Given the description of an element on the screen output the (x, y) to click on. 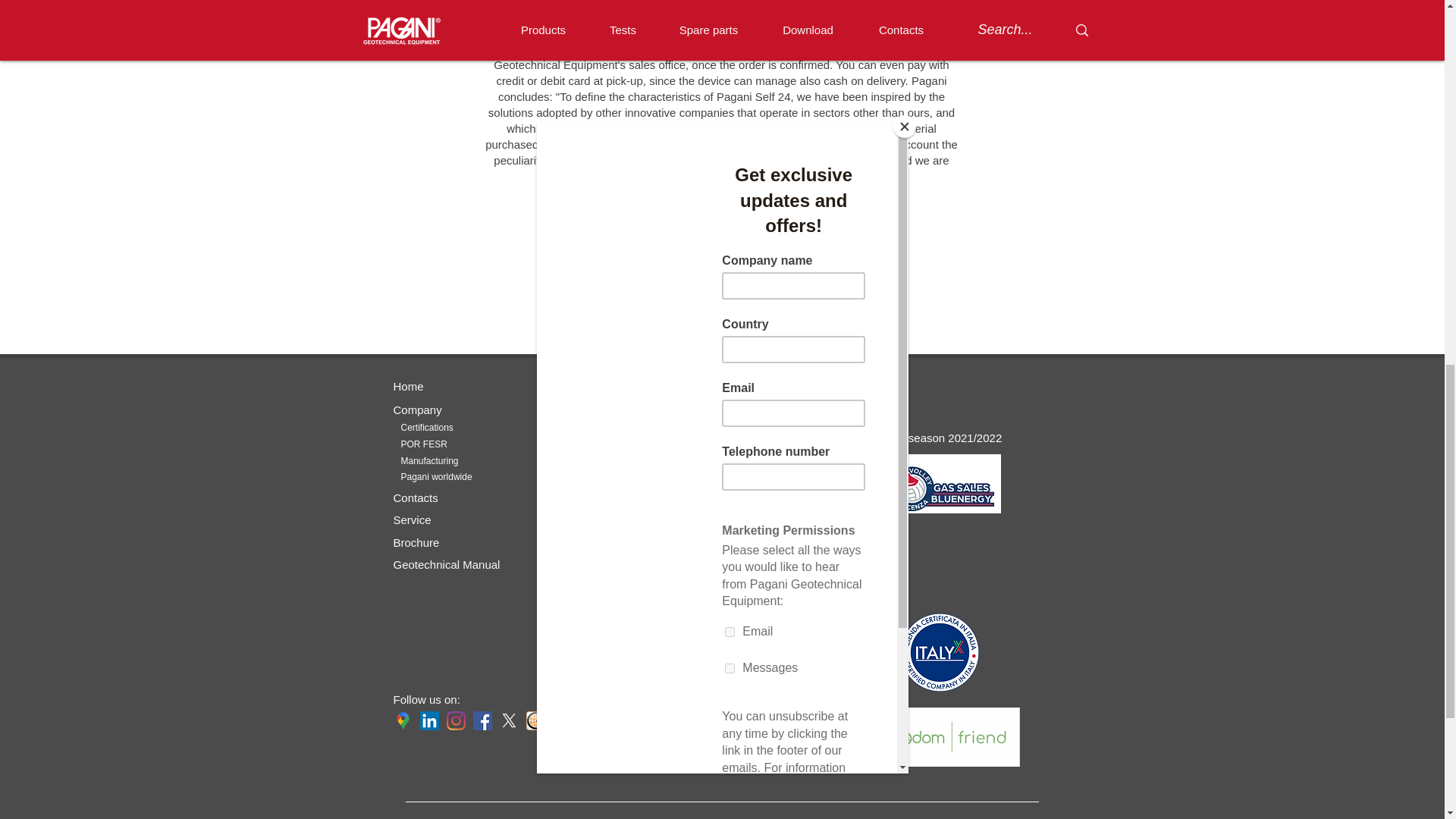
TG 63-150 (746, 420)
bollino-large.png (939, 652)
Tests CPT (595, 443)
Self 24 (584, 522)
Merchandising (604, 545)
Contacts (415, 497)
TG 73-200 (746, 437)
Service (411, 519)
Embedded Content (938, 400)
CPT-AS (741, 452)
